Given the description of an element on the screen output the (x, y) to click on. 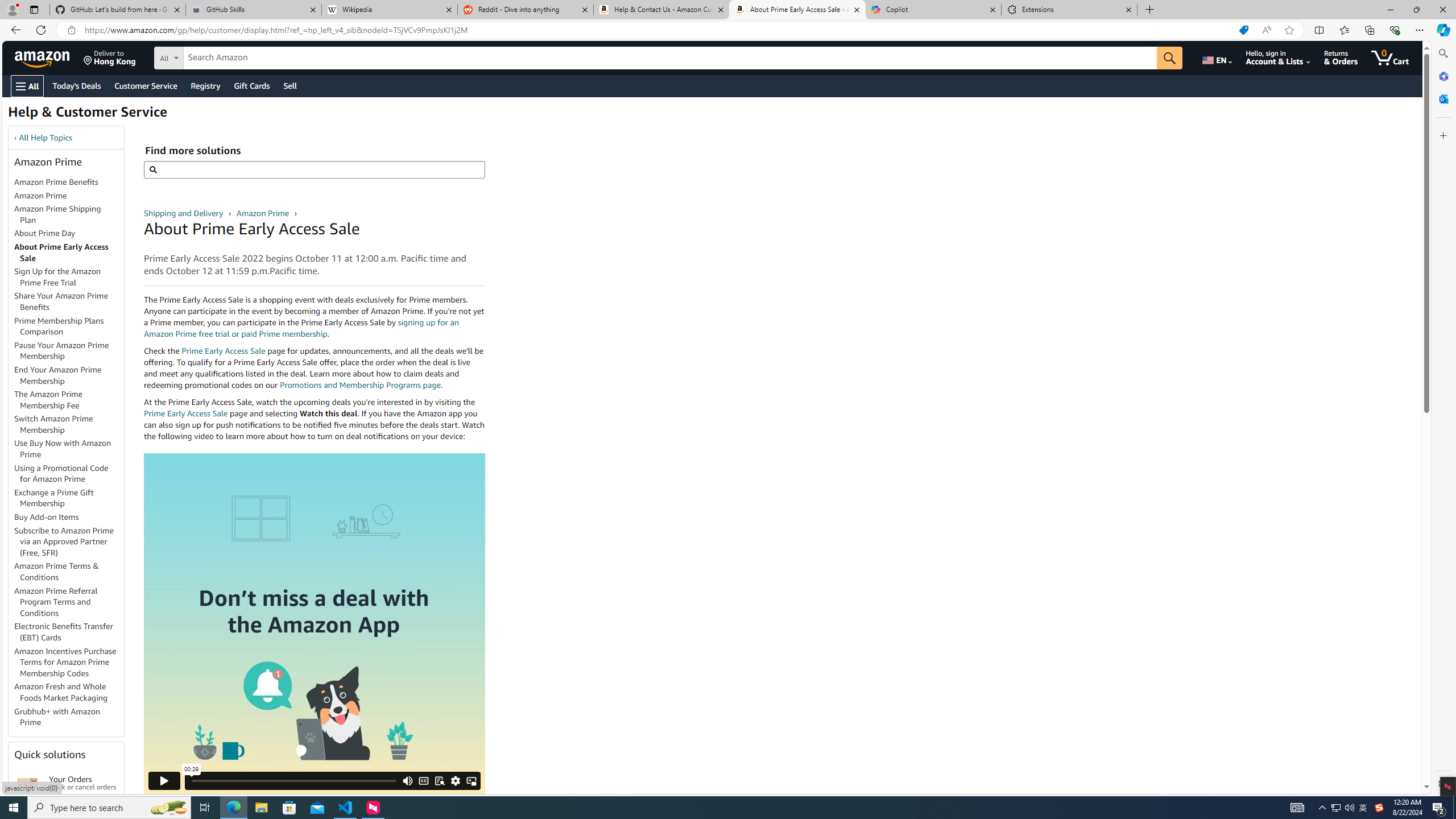
Skip to main content (48, 56)
Pause Your Amazon Prime Membership (61, 350)
About Prime Day (68, 233)
Electronic Benefits Transfer (EBT) Cards (68, 631)
Exchange a Prime Gift Membership (53, 497)
Sign Up for the Amazon Prime Free Trial (68, 277)
Transcript (439, 780)
